Given the description of an element on the screen output the (x, y) to click on. 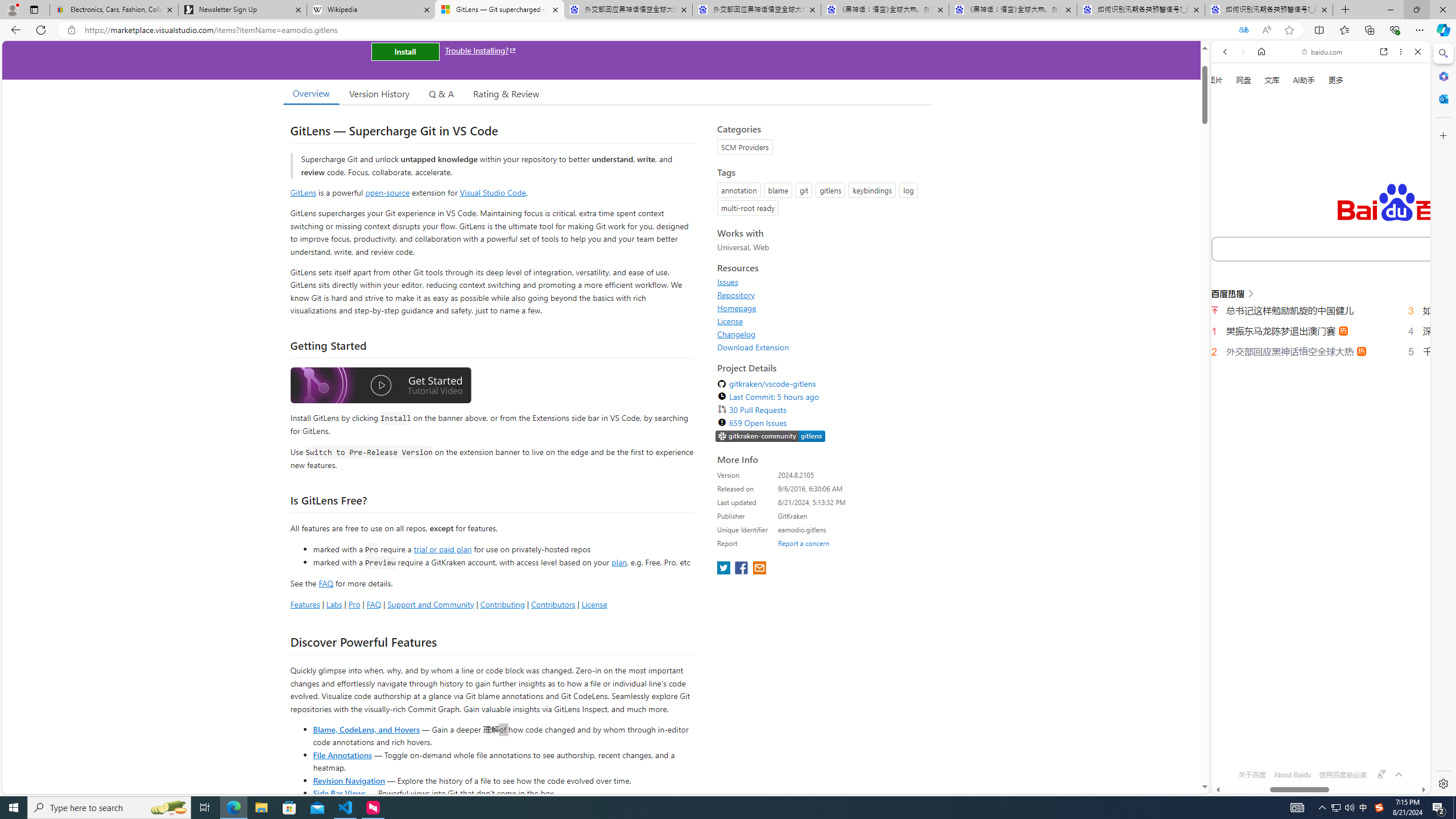
share extension on twitter (724, 568)
Repository (735, 294)
baidu.com (1323, 51)
